Given the description of an element on the screen output the (x, y) to click on. 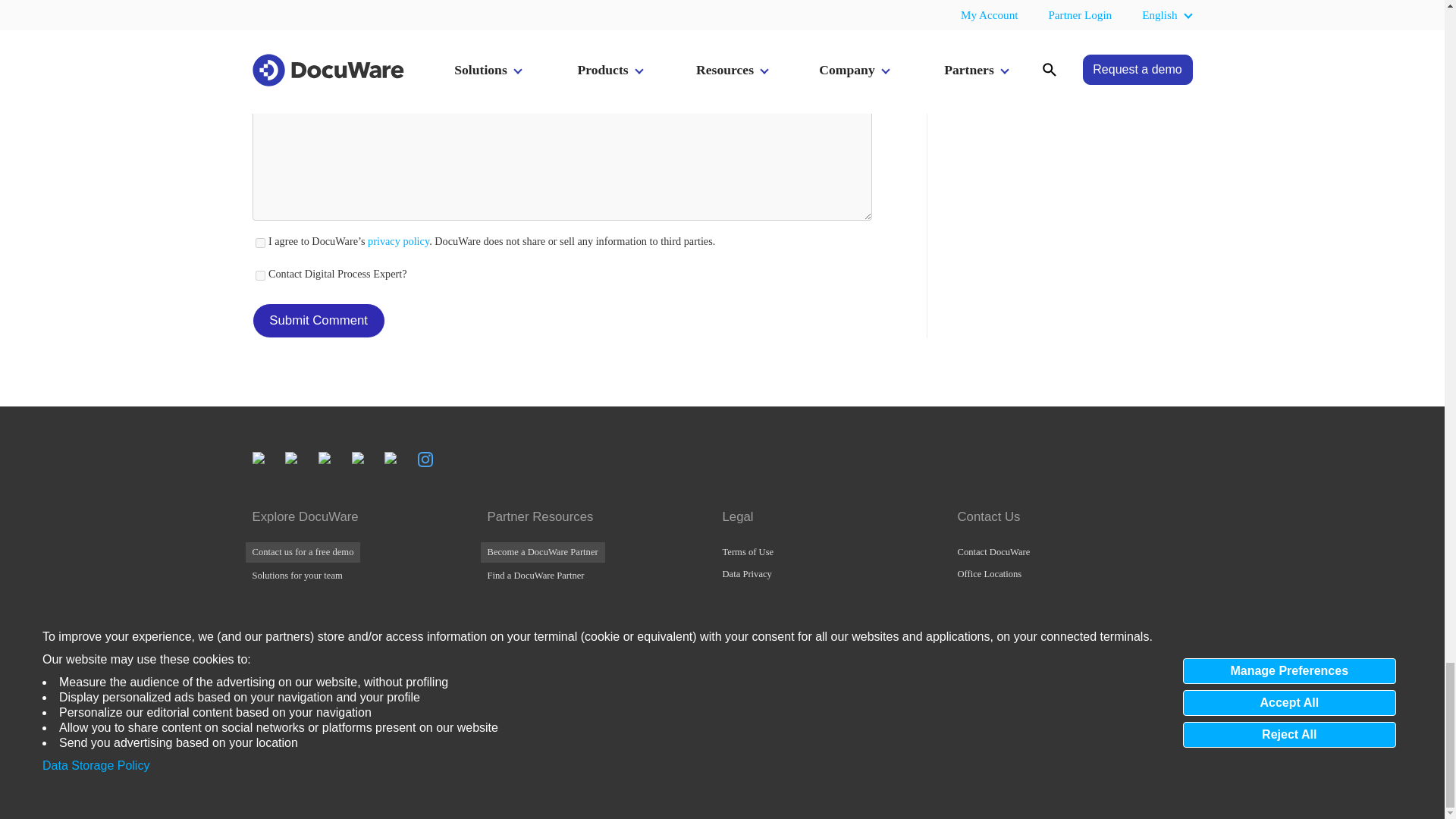
true (259, 243)
Submit Comment (317, 320)
true (259, 275)
